Given the description of an element on the screen output the (x, y) to click on. 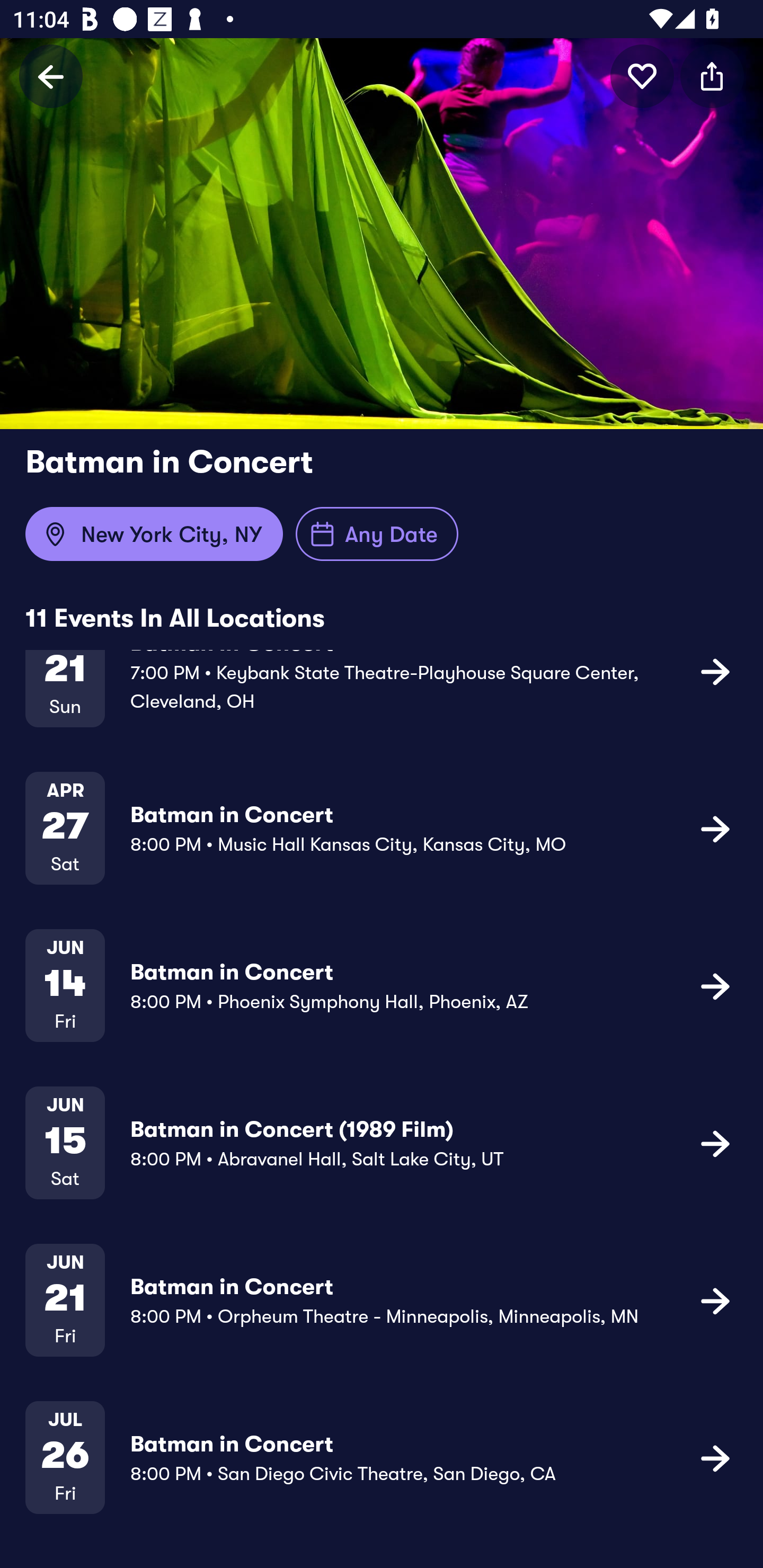
Back (50, 75)
icon button (641, 75)
icon button (711, 75)
New York City, NY (153, 533)
Any Date (377, 533)
icon button (714, 671)
icon button (714, 828)
icon button (714, 986)
icon button (714, 1143)
icon button (714, 1300)
icon button (714, 1458)
